Given the description of an element on the screen output the (x, y) to click on. 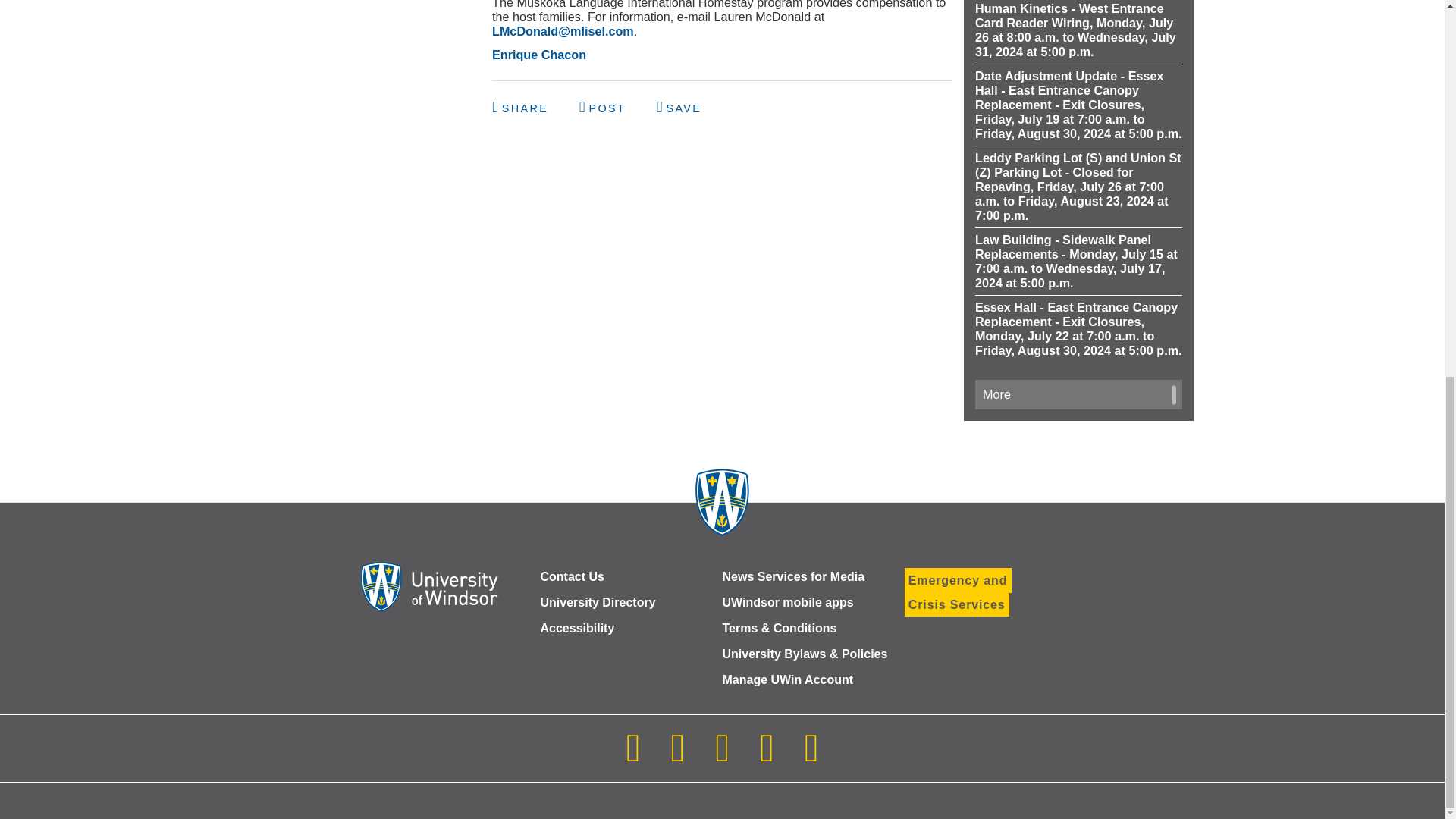
Follow on Facebook (677, 757)
Follow on Youtube (766, 757)
View this feed's recent news. (1078, 394)
Share us on Facebook (521, 107)
Share us on Pinterest (678, 107)
Follow on LinkedIn (721, 757)
